Given the description of an element on the screen output the (x, y) to click on. 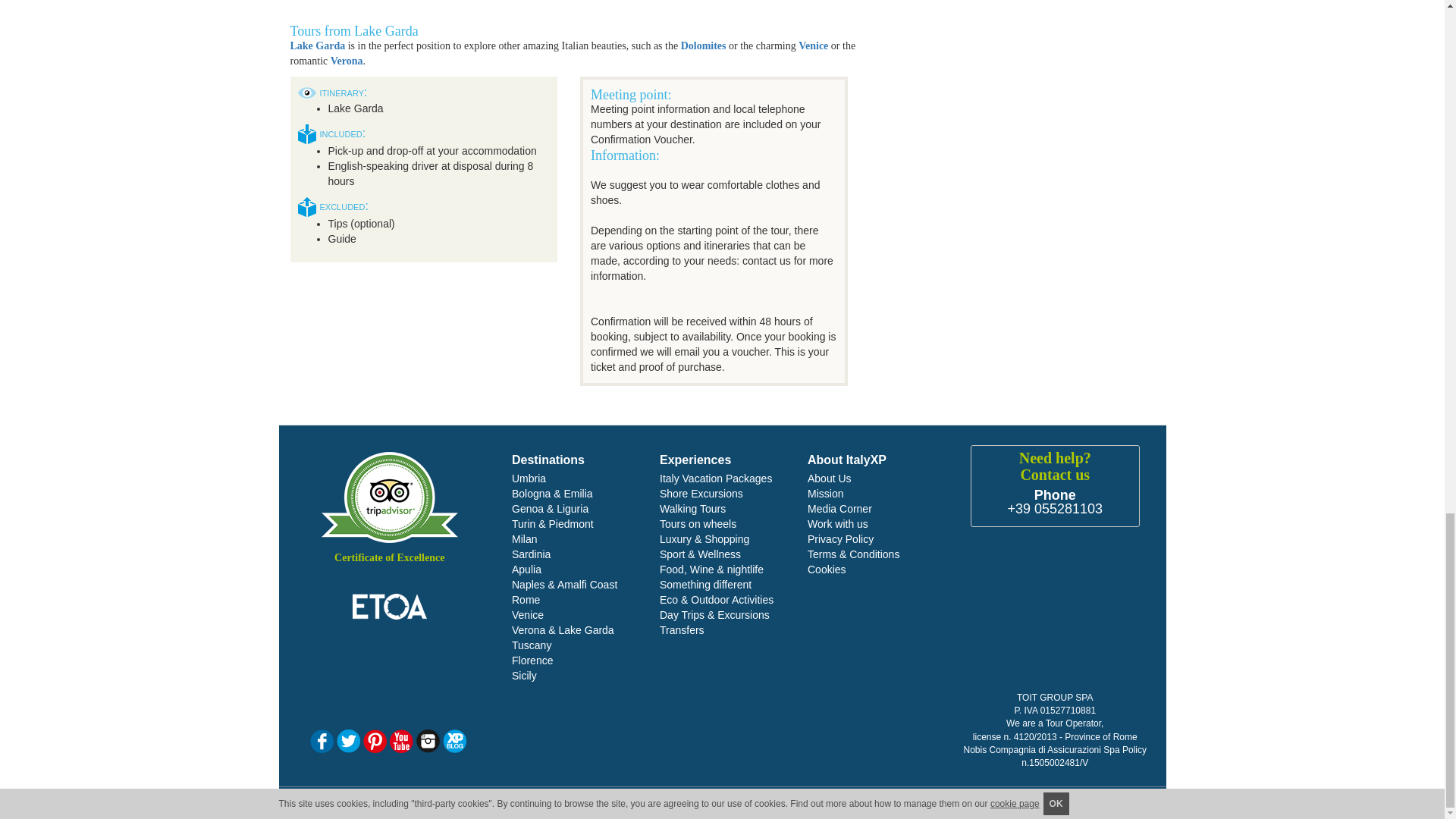
Lake Garda (317, 45)
Venice (812, 45)
Dolomites (703, 45)
